Given the description of an element on the screen output the (x, y) to click on. 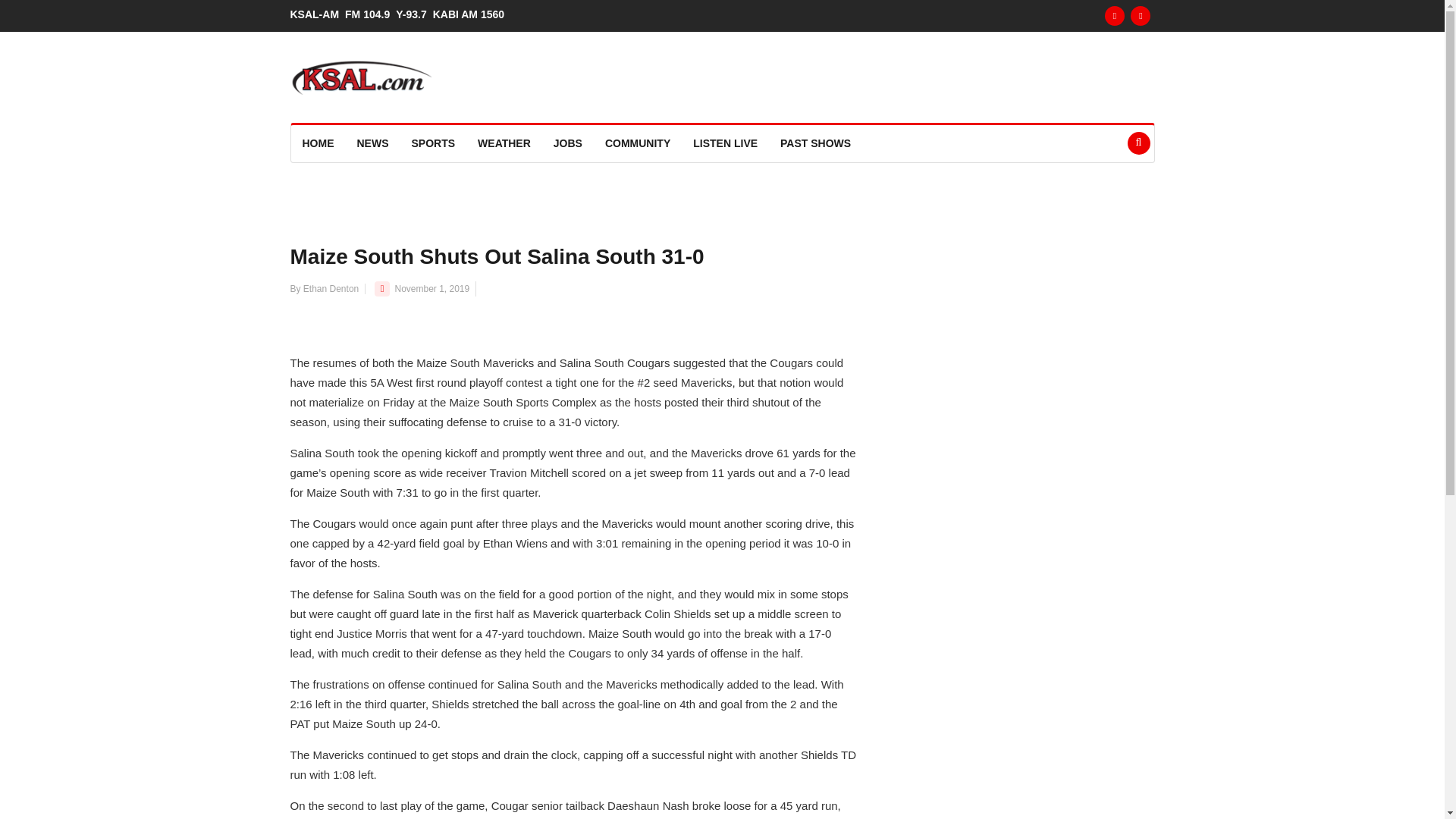
Twitter (1140, 15)
SPORTS (433, 143)
WEATHER (503, 143)
Facebook (1114, 15)
KABI AM 1560 (471, 13)
FM 104.9 (370, 13)
JOBS (567, 143)
COMMUNITY (637, 143)
NEWS (373, 143)
KSAL-AM (317, 13)
Y-93.7 (414, 13)
HOME (318, 143)
